Given the description of an element on the screen output the (x, y) to click on. 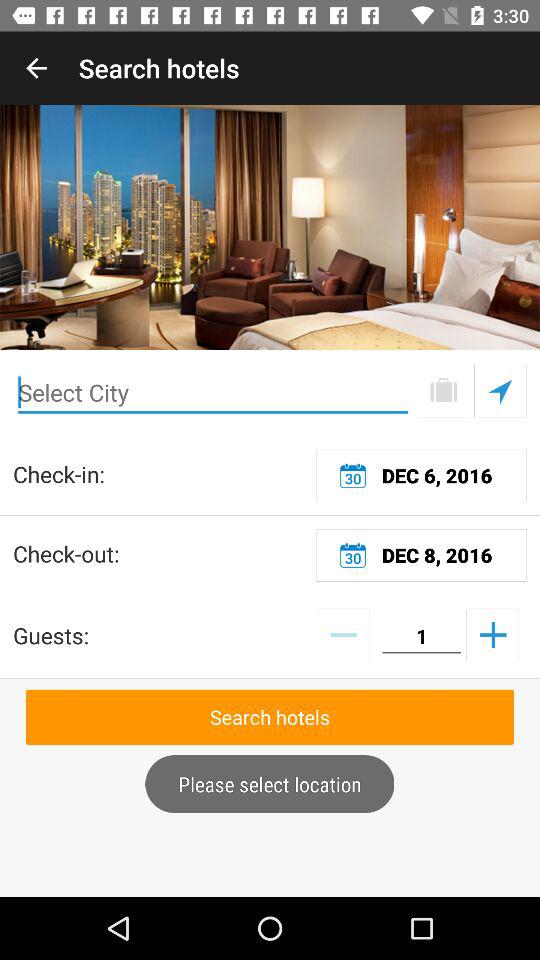
subtract guests (342, 634)
